Given the description of an element on the screen output the (x, y) to click on. 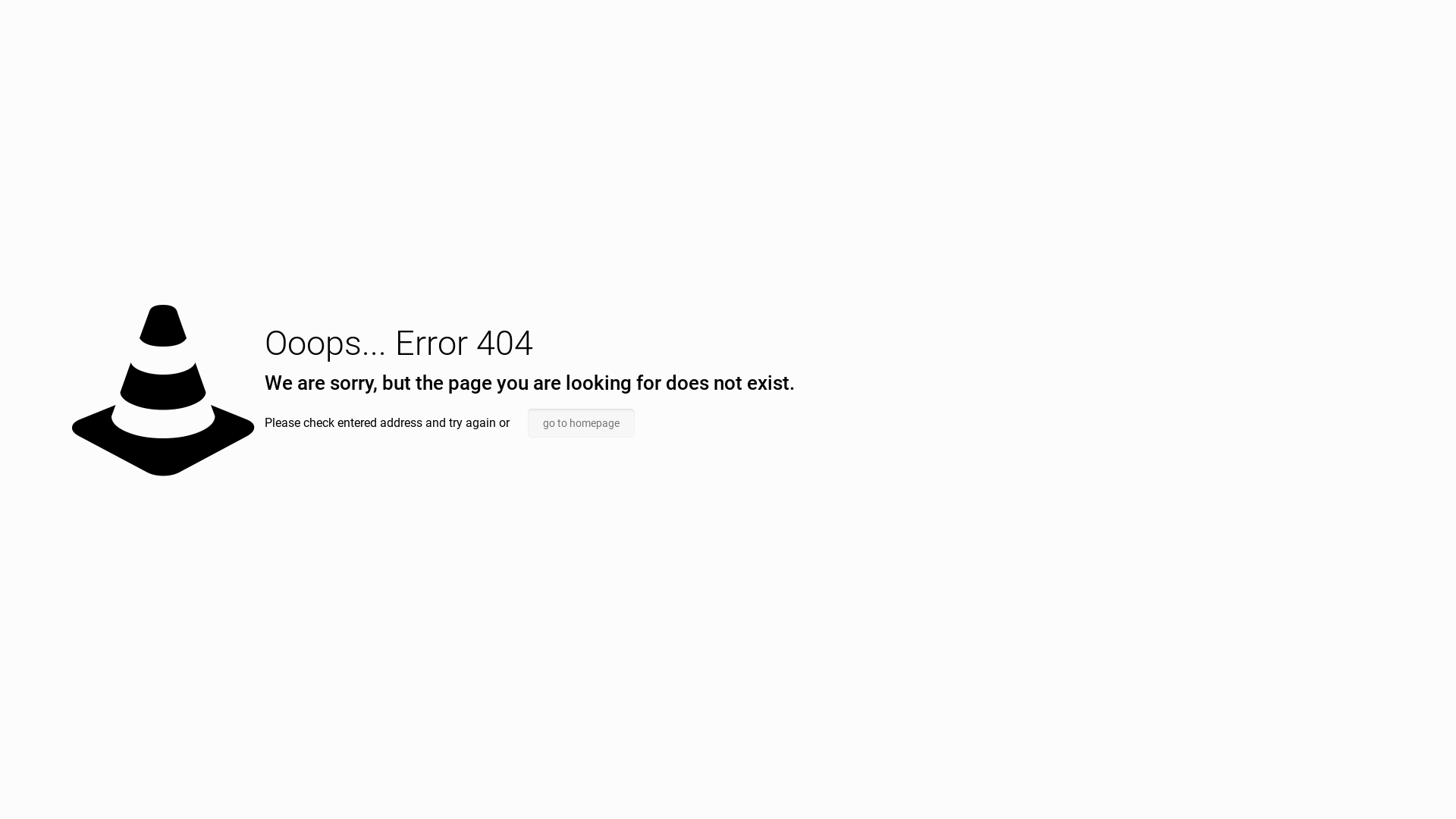
go to homepage Element type: text (580, 422)
